Given the description of an element on the screen output the (x, y) to click on. 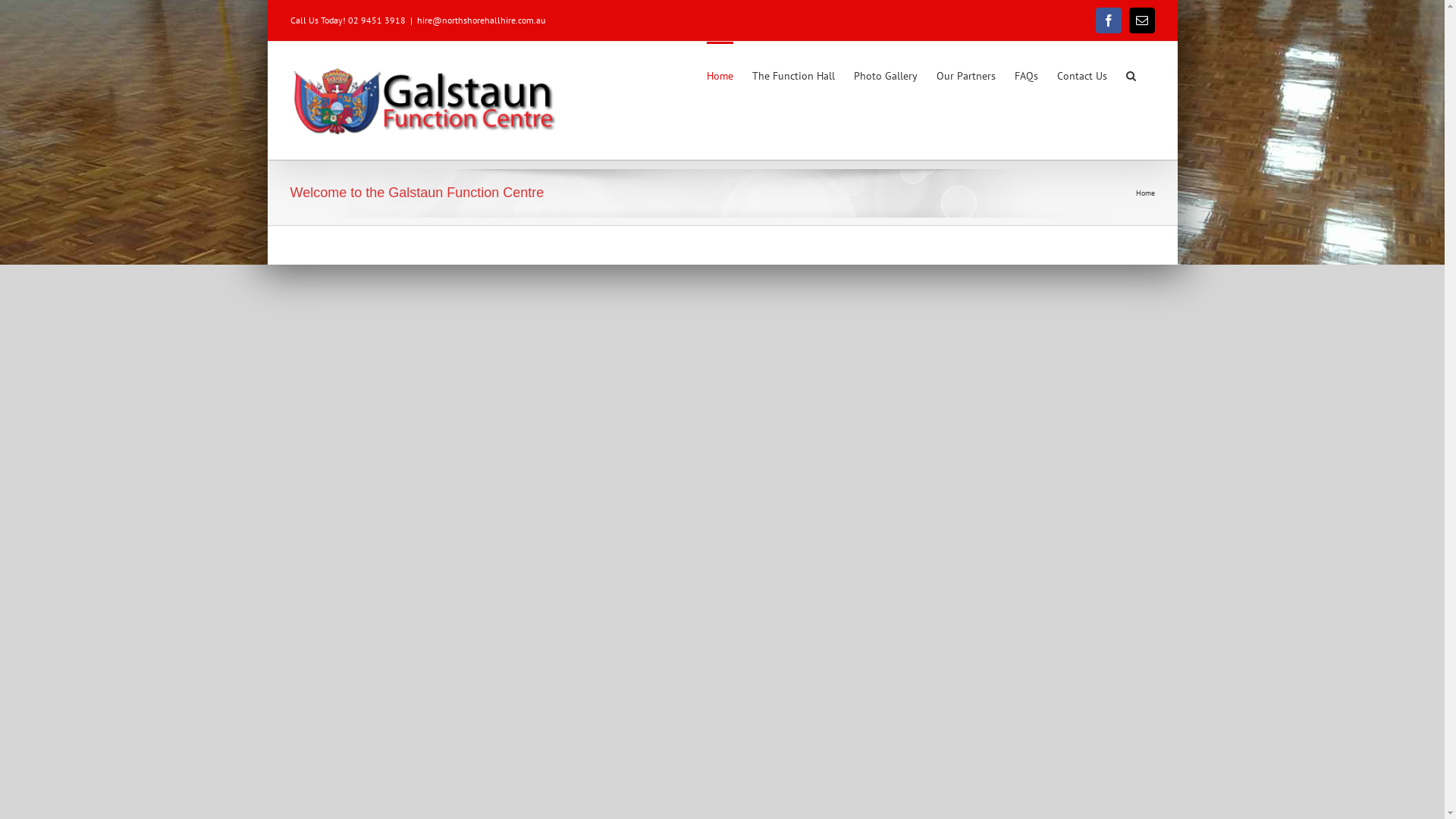
FAQs Element type: text (1026, 73)
Our Partners Element type: text (964, 73)
Contact Us Element type: text (1082, 73)
The Function Hall Element type: text (793, 73)
02 9451 3918 Element type: text (375, 19)
Home Element type: text (1144, 192)
hire@northshorehallhire.com.au Element type: text (481, 19)
Facebook Element type: text (1107, 20)
Email Element type: text (1141, 20)
Home Element type: text (719, 73)
Search Element type: hover (1130, 73)
Photo Gallery Element type: text (885, 73)
